Given the description of an element on the screen output the (x, y) to click on. 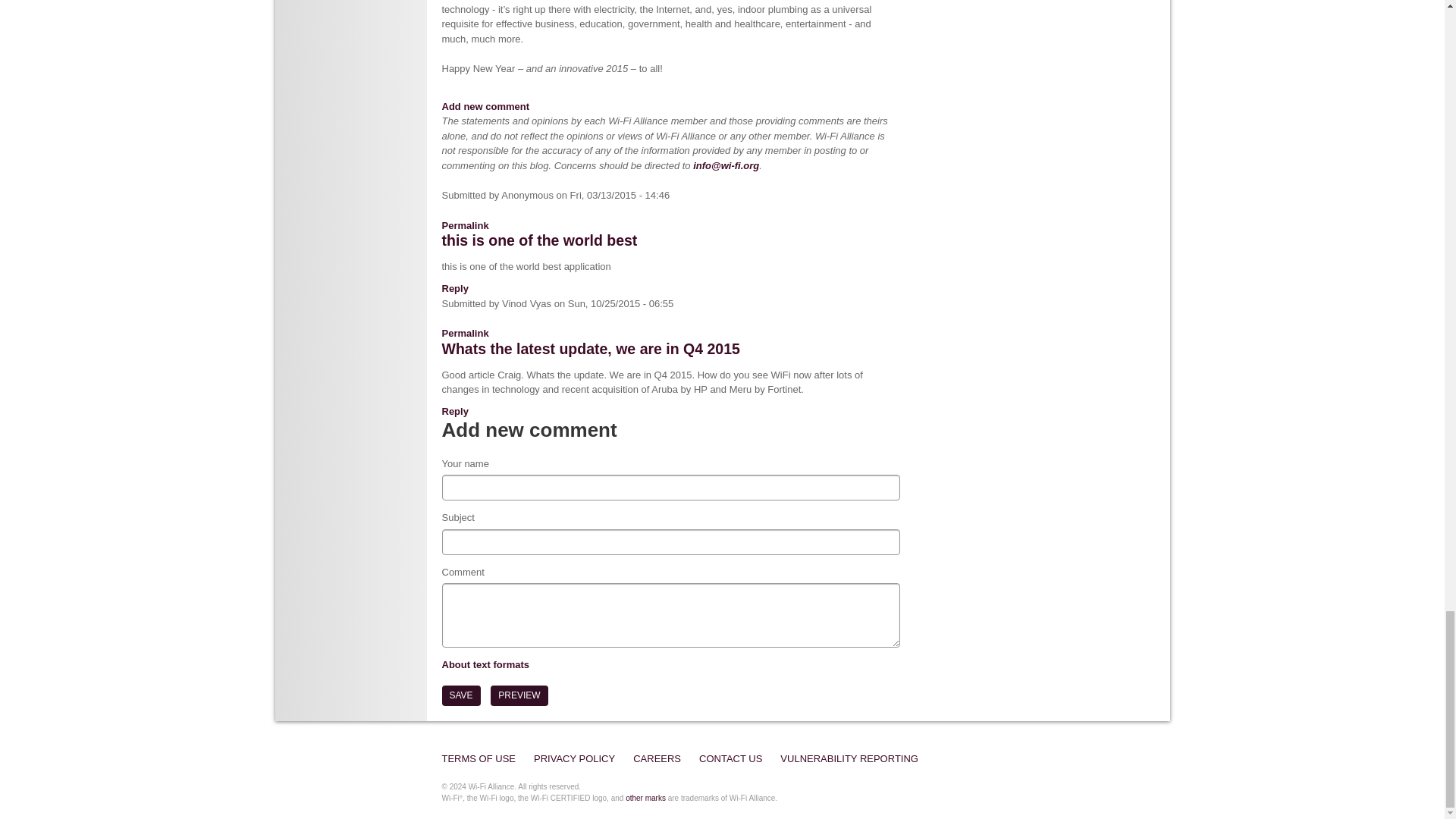
Preview (518, 695)
Save (460, 695)
Share your thoughts and opinions. (485, 106)
